Given the description of an element on the screen output the (x, y) to click on. 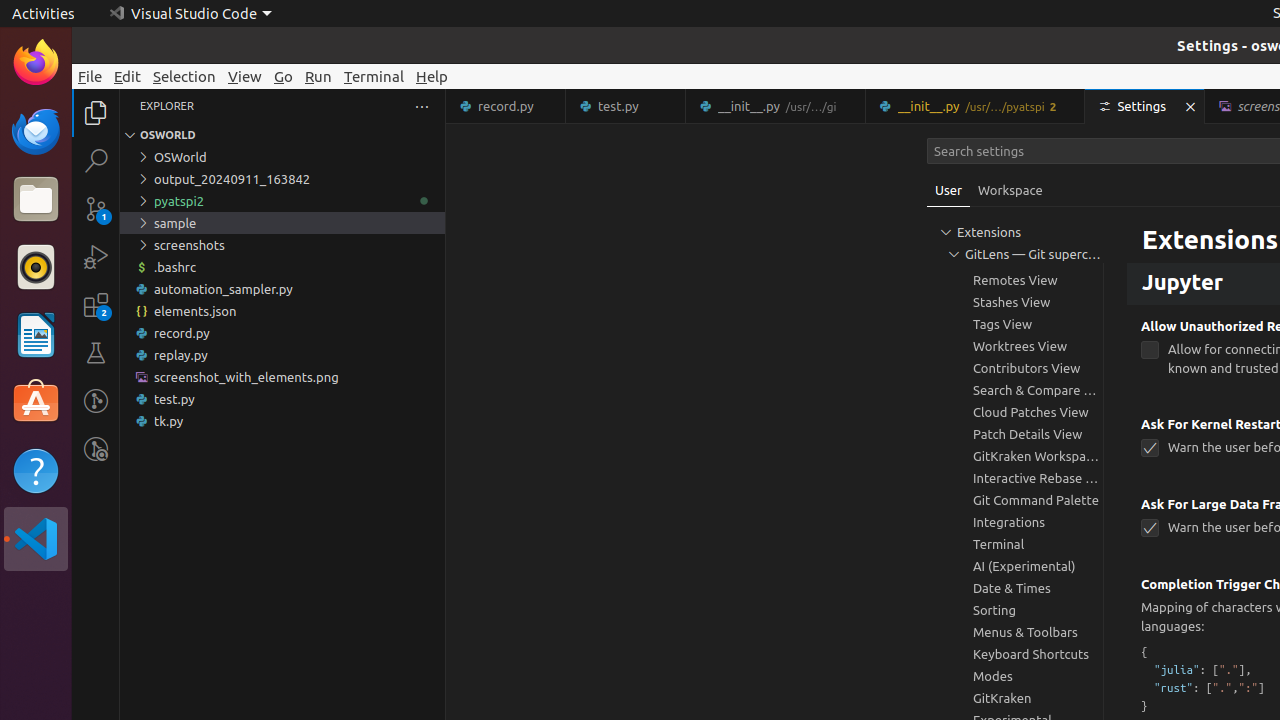
Run and Debug (Ctrl+Shift+D) Element type: page-tab (96, 257)
Workspace Element type: check-box (1010, 190)
Settings Element type: page-tab (1145, 106)
Patch Details View, group Element type: tree-item (1015, 434)
Search & Compare View, group Element type: tree-item (1015, 390)
